Given the description of an element on the screen output the (x, y) to click on. 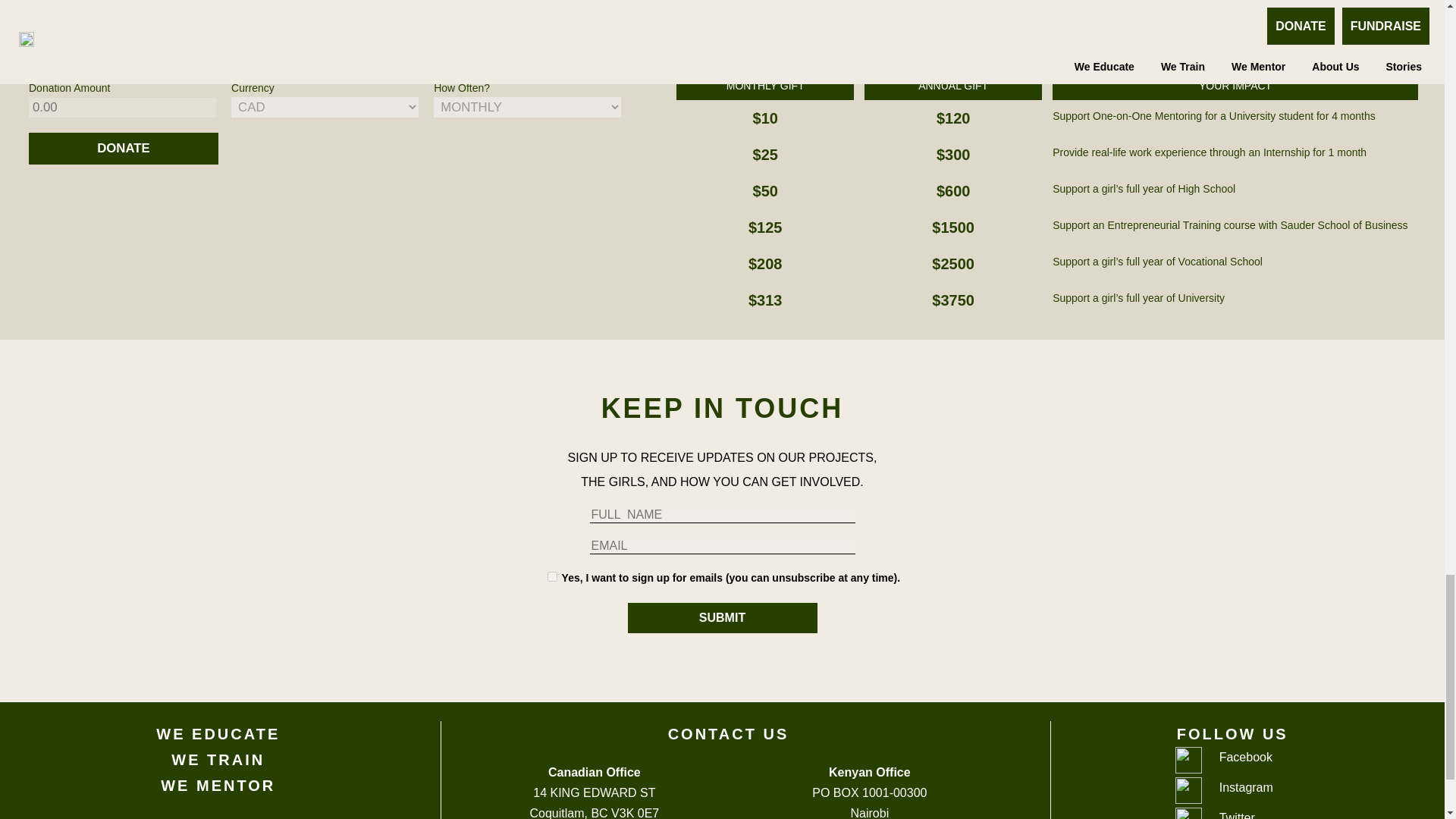
Donate (123, 148)
Instagram (1257, 792)
Donate (123, 148)
SUBMIT (721, 617)
Facebook (1257, 761)
on (552, 576)
